Given the description of an element on the screen output the (x, y) to click on. 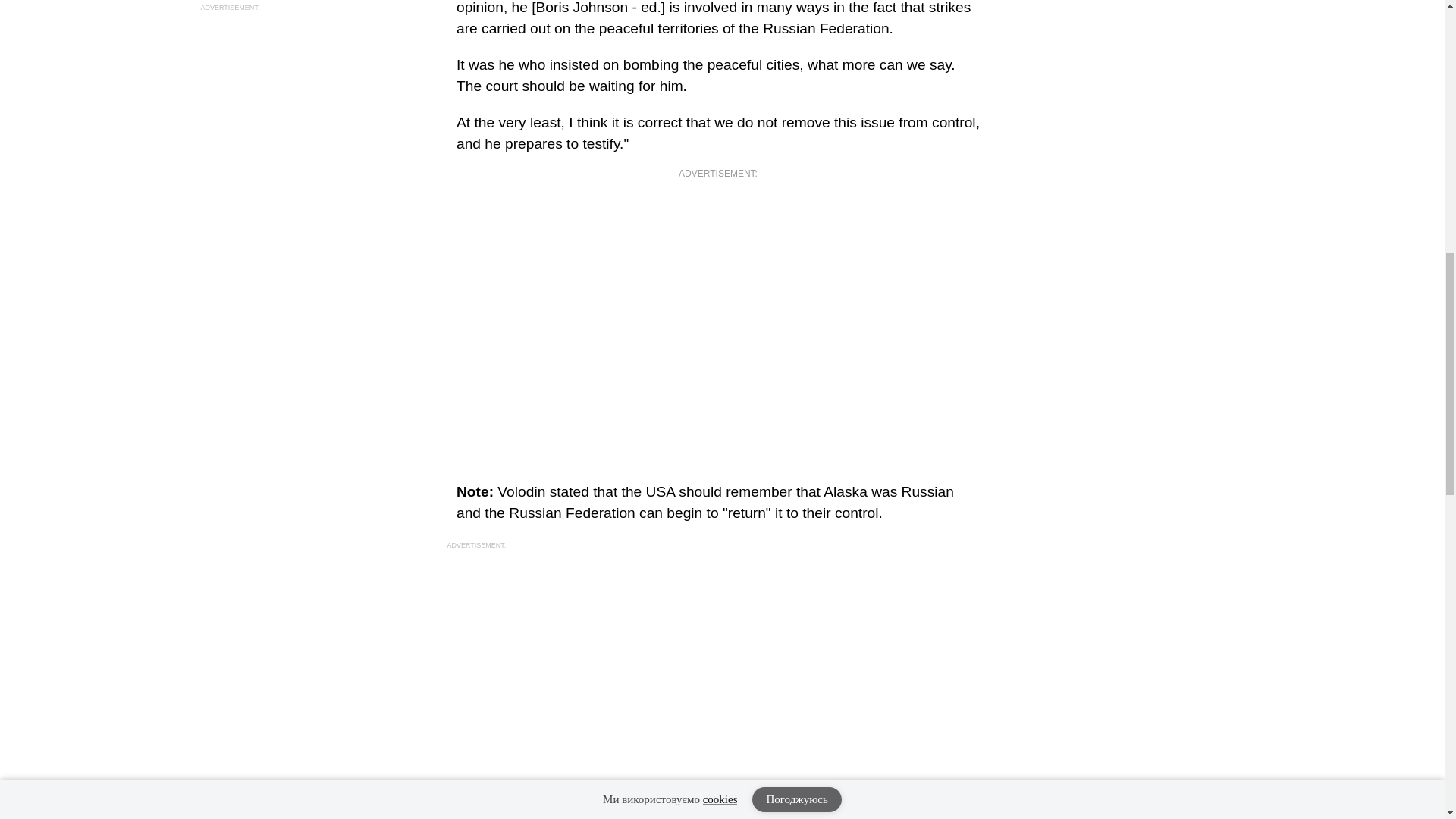
3rd party ad content (718, 677)
3rd party ad content (314, 99)
